Given the description of an element on the screen output the (x, y) to click on. 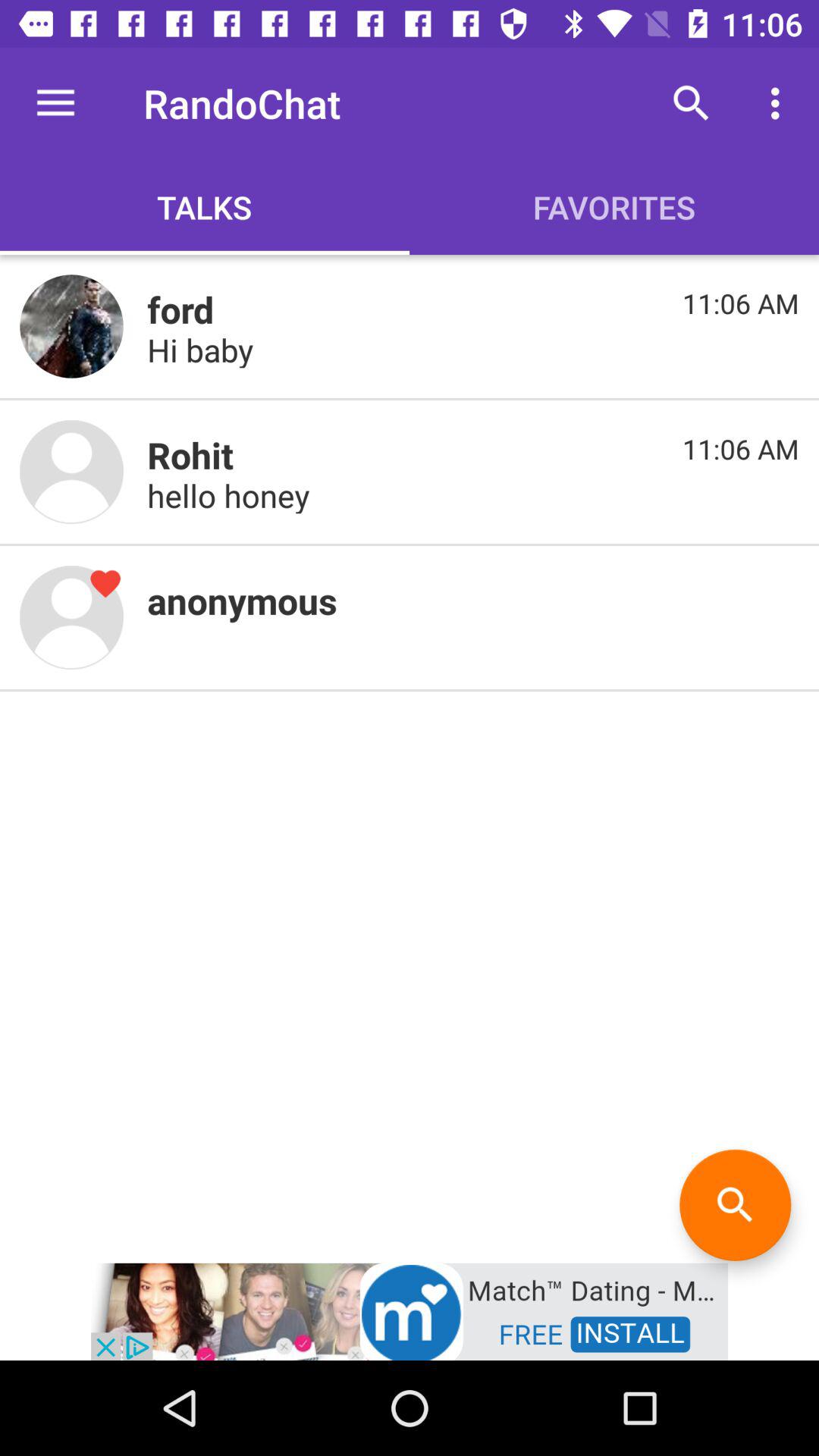
user profile (71, 617)
